Given the description of an element on the screen output the (x, y) to click on. 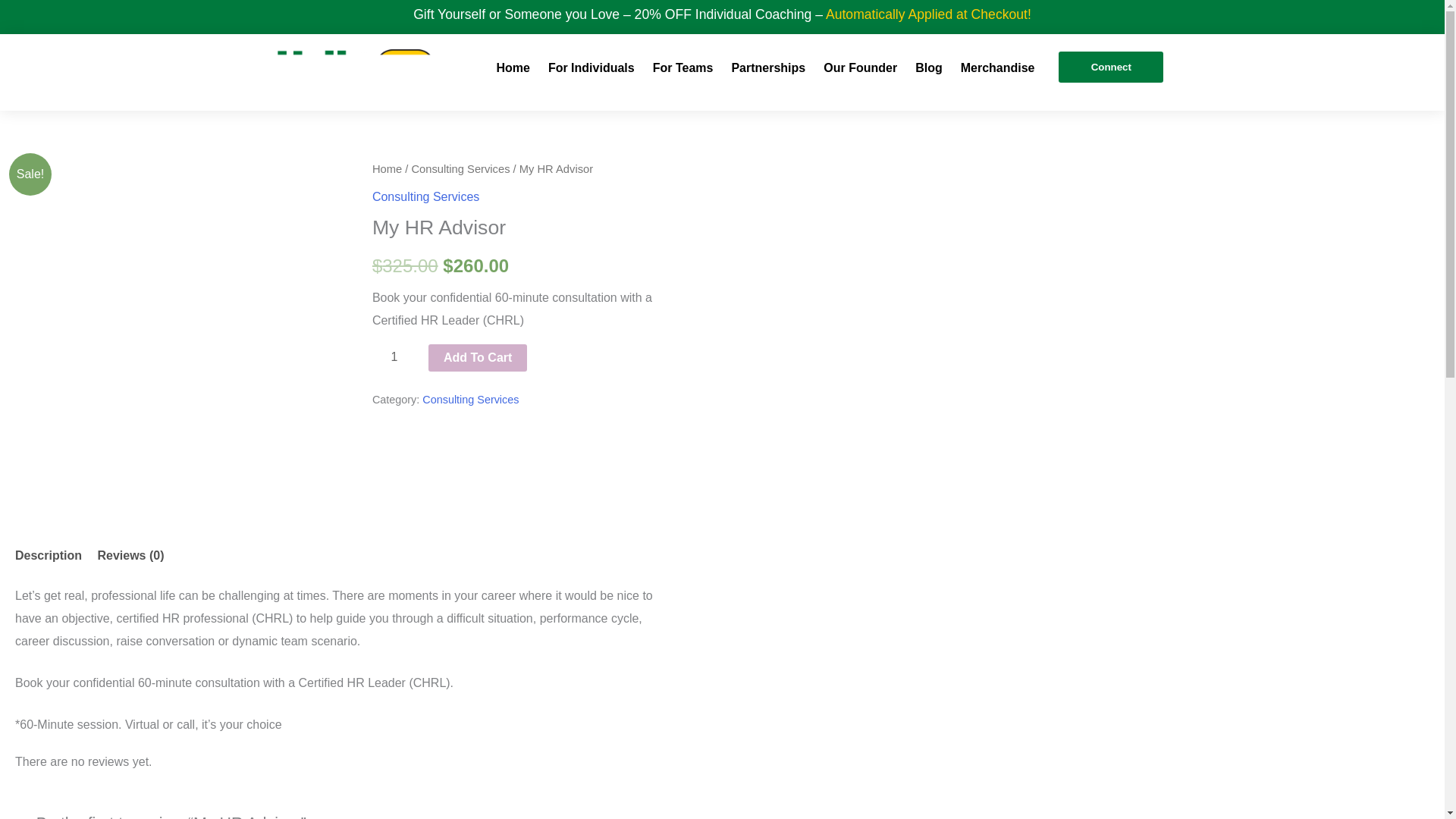
Home (386, 168)
For Individuals (590, 68)
Our Founder (859, 68)
Home (512, 68)
Connect (1110, 66)
1 (394, 357)
Description (47, 555)
Add To Cart (477, 357)
For Teams (682, 68)
Merchandise (997, 68)
